Given the description of an element on the screen output the (x, y) to click on. 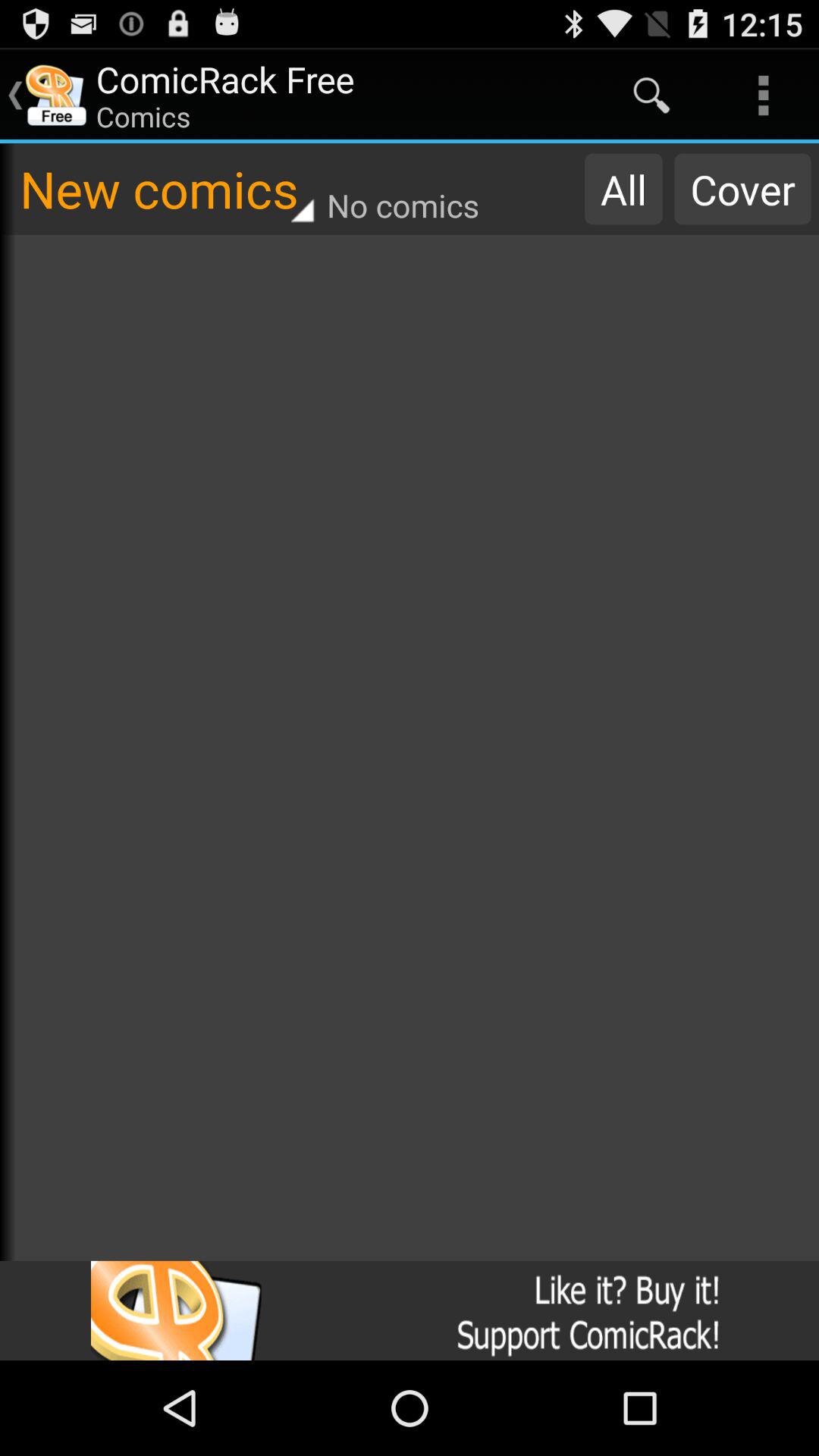
select icon at the bottom (409, 1310)
